Given the description of an element on the screen output the (x, y) to click on. 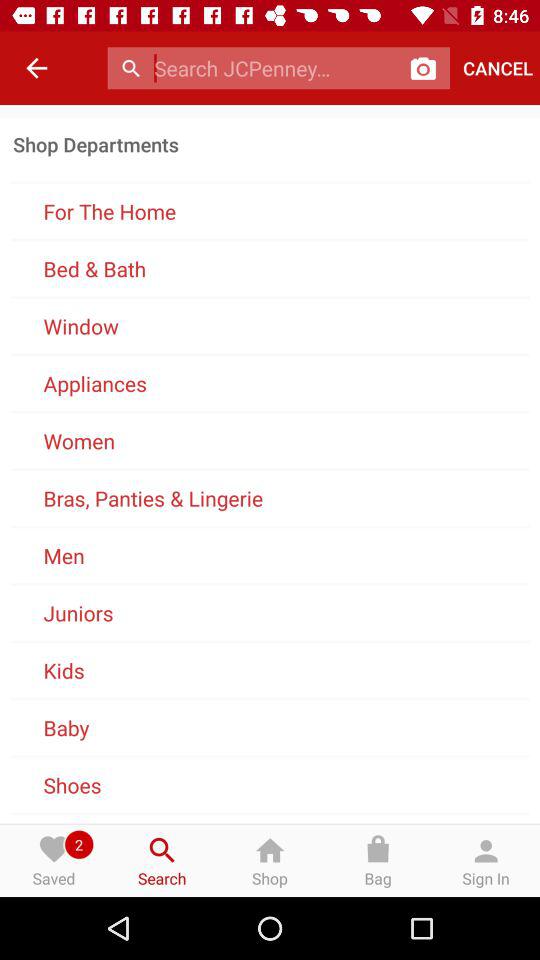
selected search bar (275, 68)
